Given the description of an element on the screen output the (x, y) to click on. 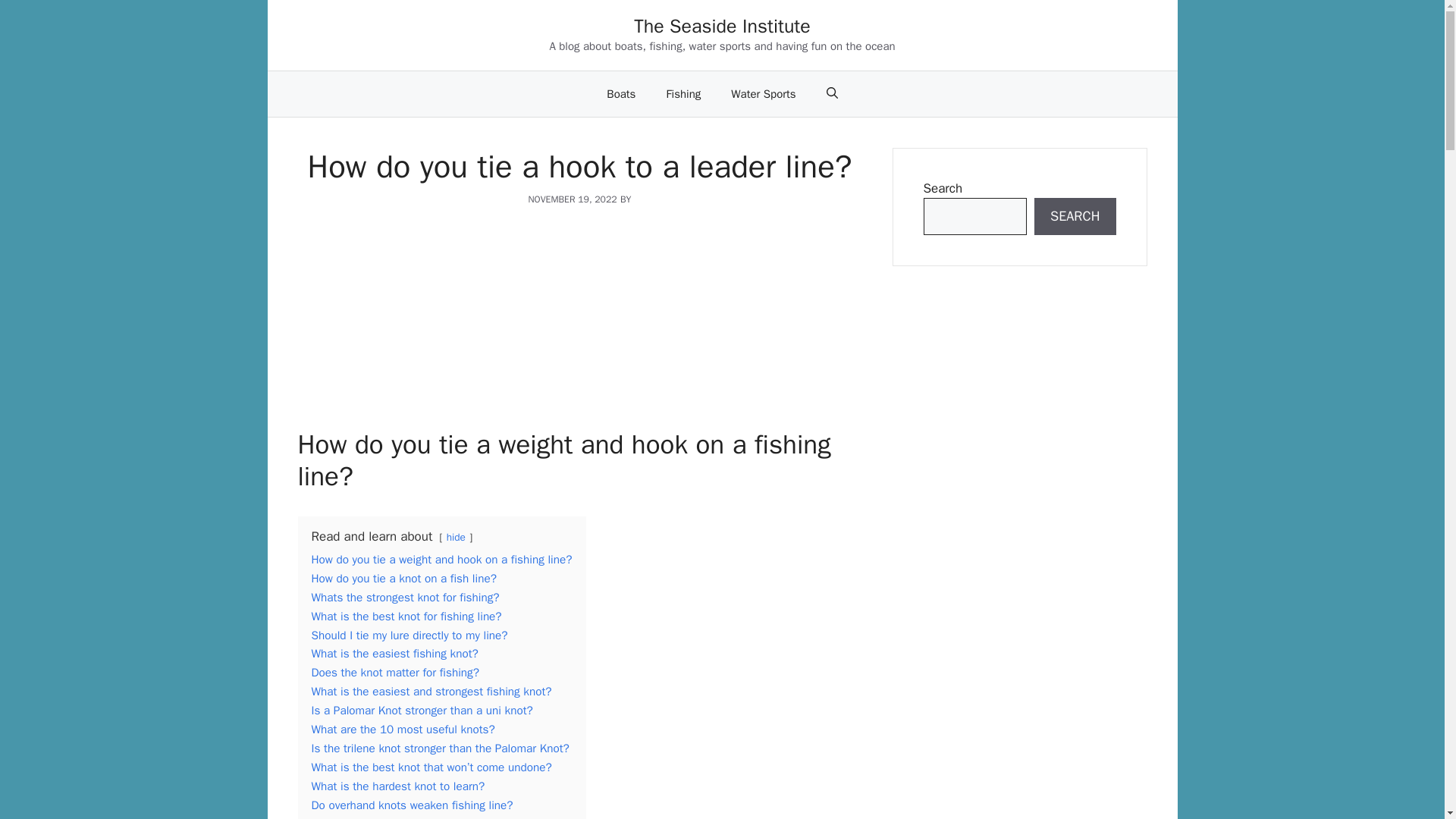
What is the easiest fishing knot? (394, 653)
Is the trilene knot stronger than the Palomar Knot? (440, 748)
Water Sports (763, 94)
What is the hardest knot to learn? (397, 785)
Is a Palomar Knot stronger than a uni knot? (421, 710)
Fishing (683, 94)
Do overhand knots weaken fishing line? (411, 805)
Whats the strongest knot for fishing? (405, 597)
Why do fish keep snapping my line? (402, 817)
hide (455, 536)
Does the knot matter for fishing? (395, 672)
How do you tie a knot on a fish line? (403, 578)
The Seaside Institute (721, 25)
What is the best knot for fishing line? (405, 616)
How do you tie a weight and hook on a fishing line? (441, 559)
